Given the description of an element on the screen output the (x, y) to click on. 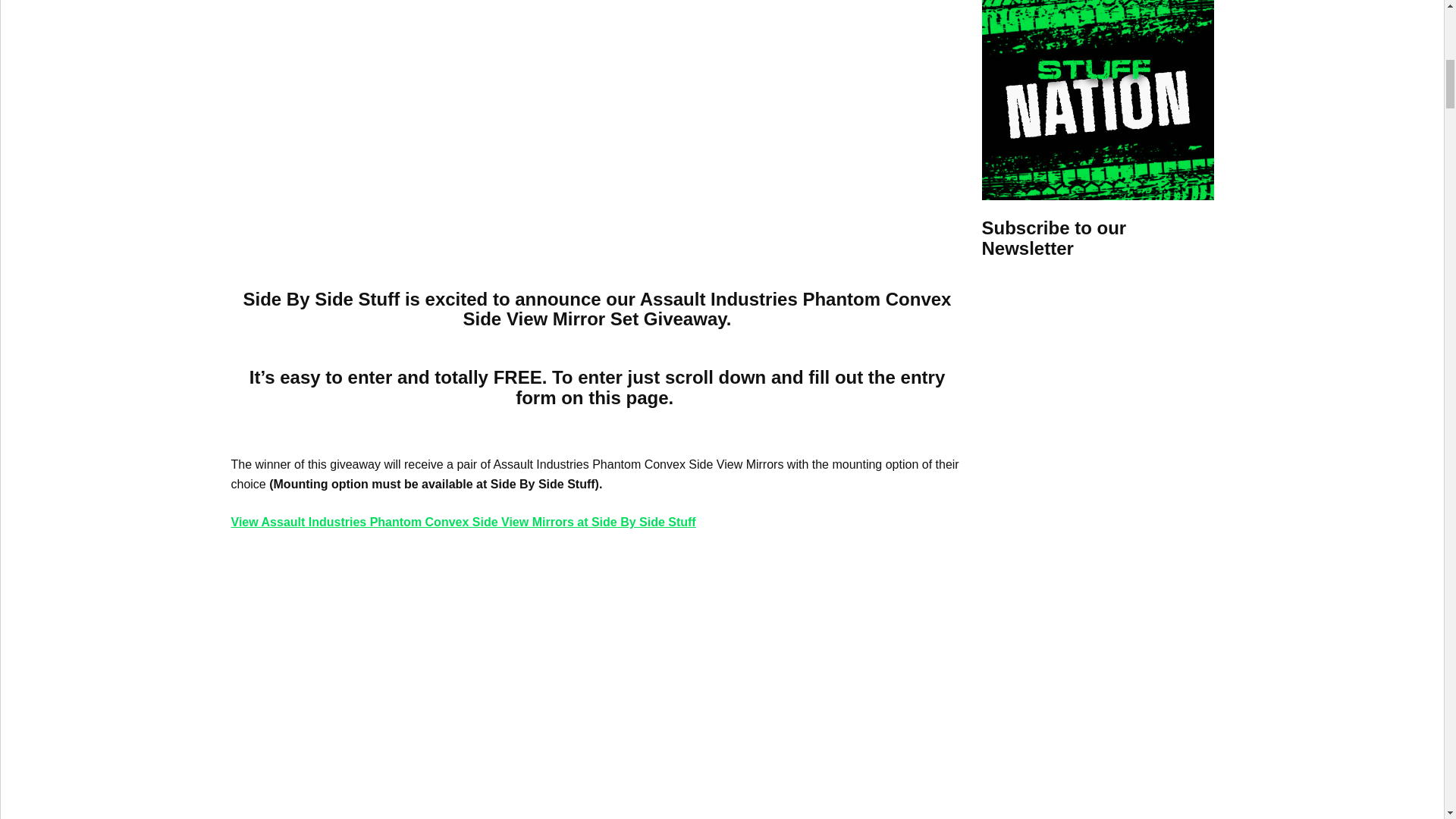
Assault Industries Phantom Convex Side View Mirrors Giveaway (473, 113)
Assault Industries Phantom Convex Side View Mirrors (473, 684)
